Given the description of an element on the screen output the (x, y) to click on. 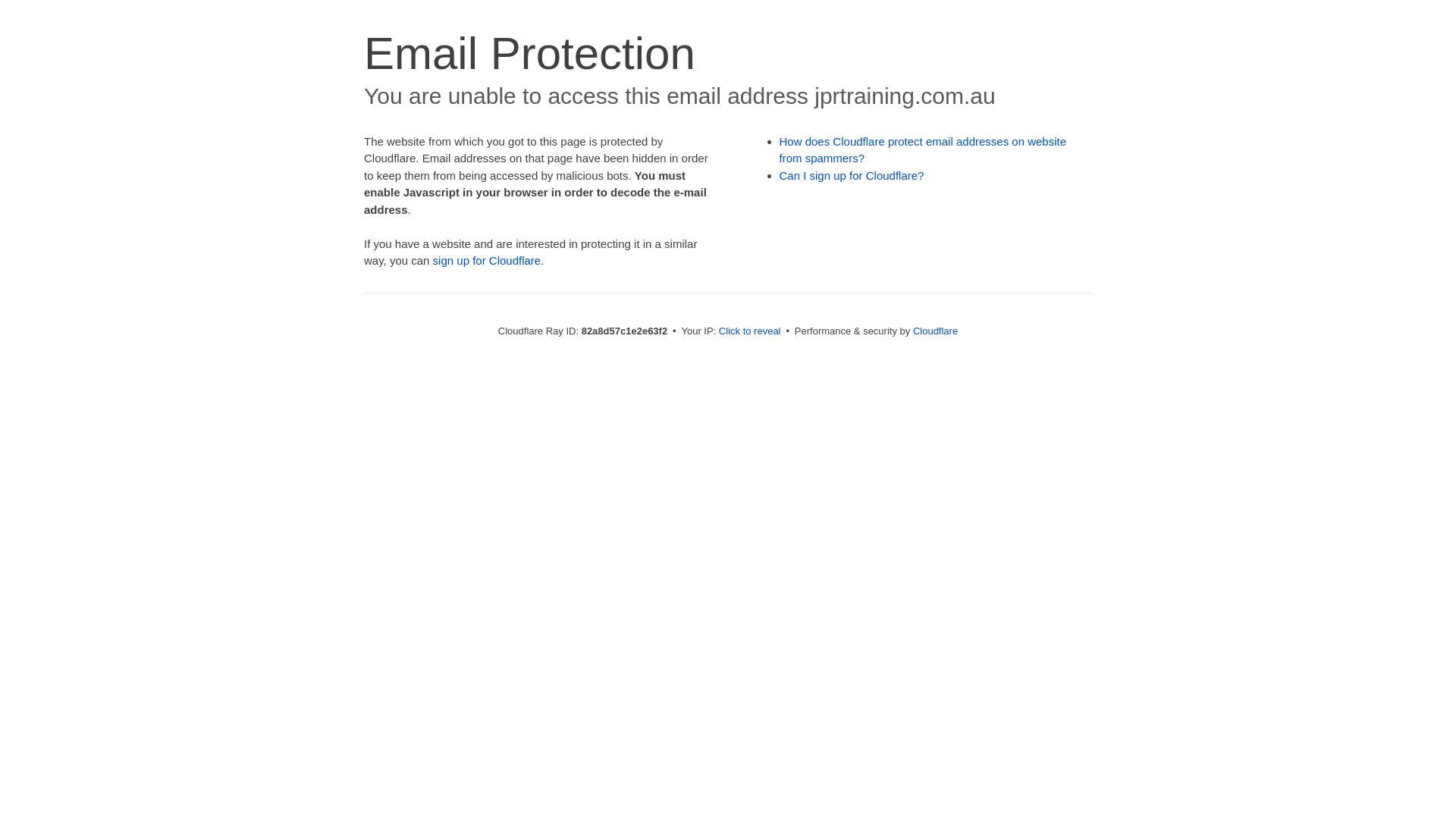
Click to reveal Element type: text (749, 330)
Can I sign up for Cloudflare? Element type: text (851, 175)
Cloudflare Element type: text (935, 330)
sign up for Cloudflare Element type: text (487, 260)
